Given the description of an element on the screen output the (x, y) to click on. 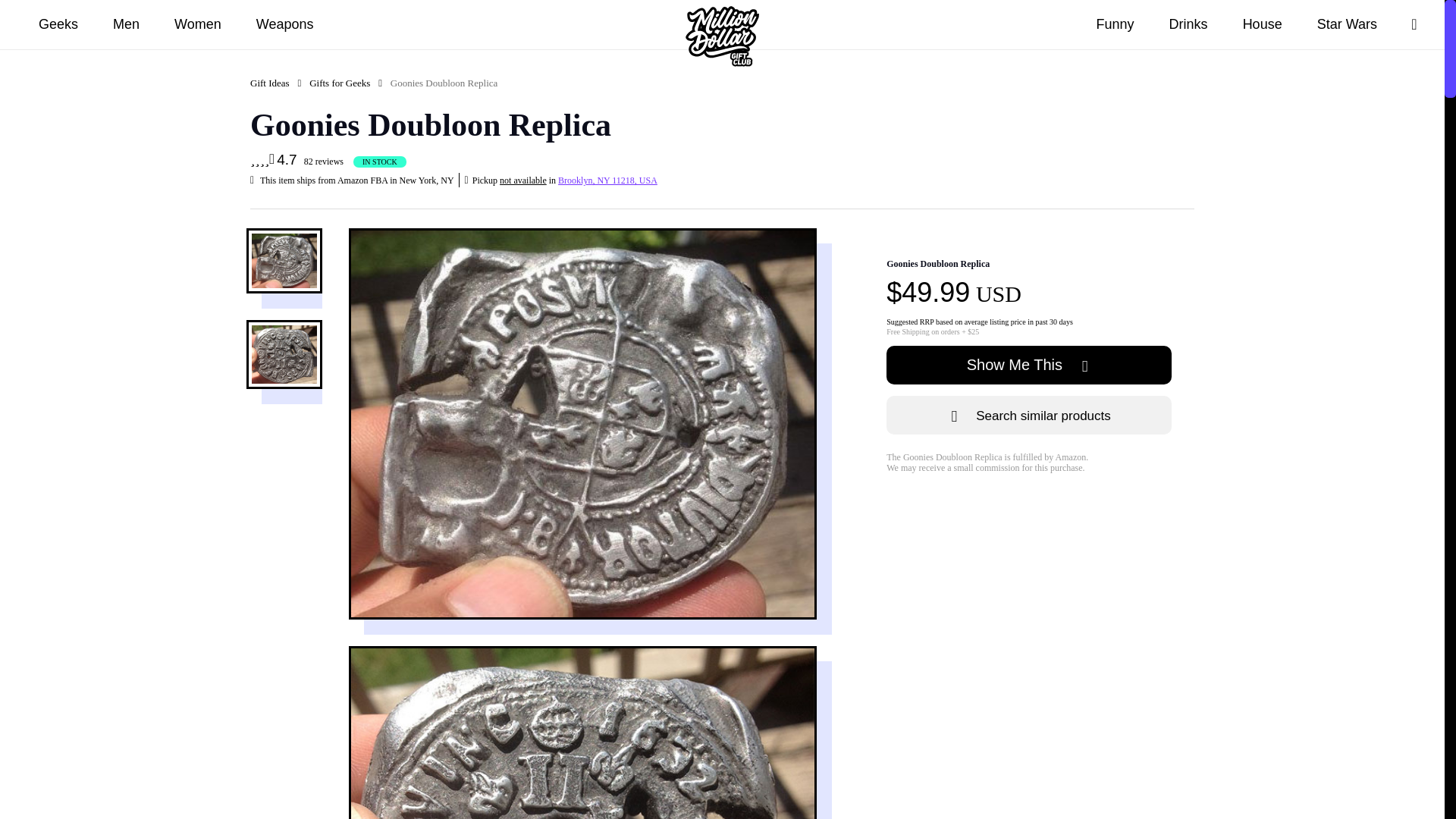
Brooklyn, NY 11218, USA (607, 180)
Gift Ideas (269, 82)
Men (126, 24)
Geeks (57, 24)
Weapons (284, 24)
Star Wars (1347, 24)
Funny (1114, 24)
Drinks (1188, 24)
House (1262, 24)
Gifts for Geeks (338, 82)
4.7 82 reviews (298, 161)
Women (197, 24)
search (1414, 24)
